Given the description of an element on the screen output the (x, y) to click on. 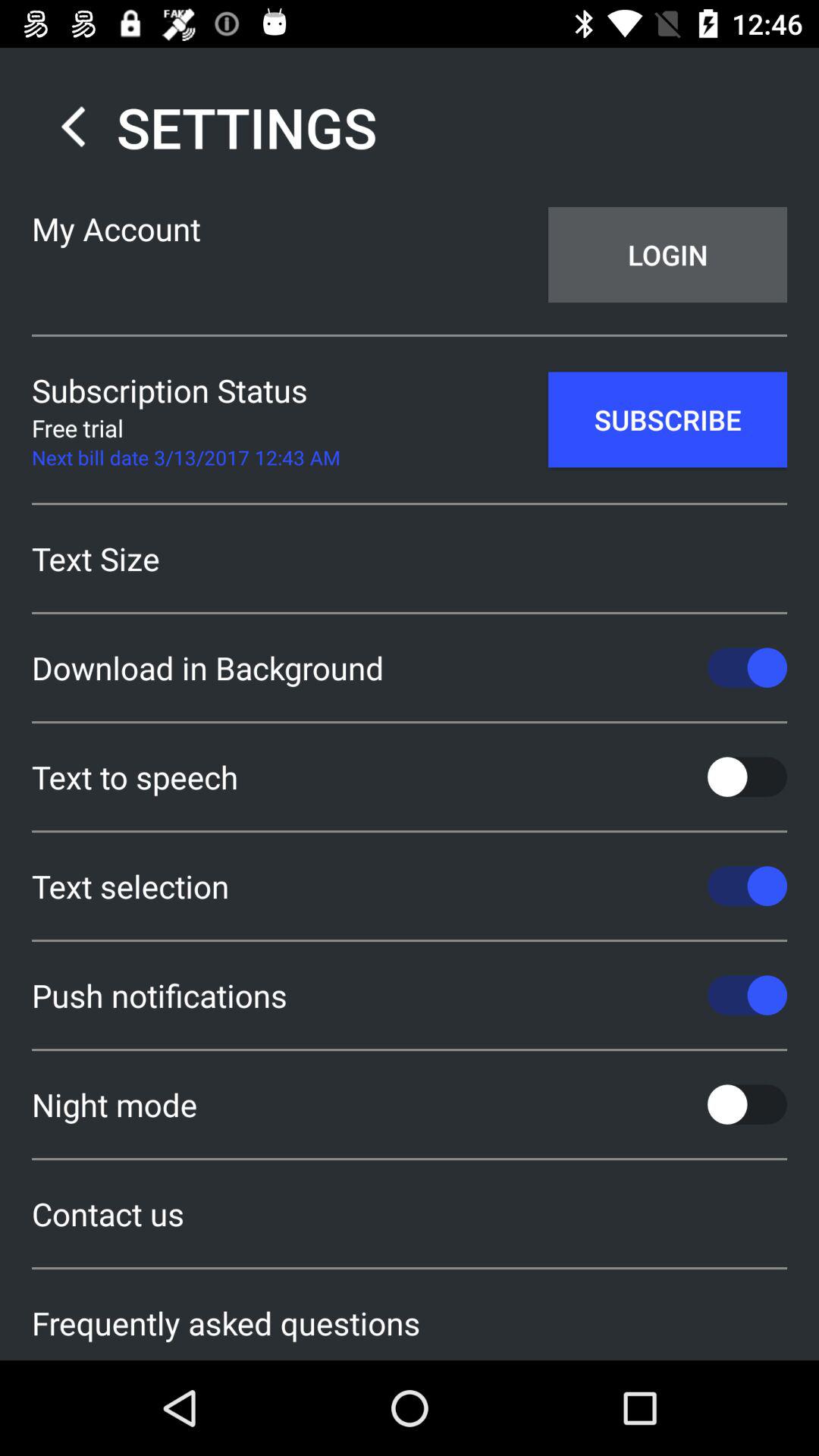
turn off the download in background item (409, 667)
